Given the description of an element on the screen output the (x, y) to click on. 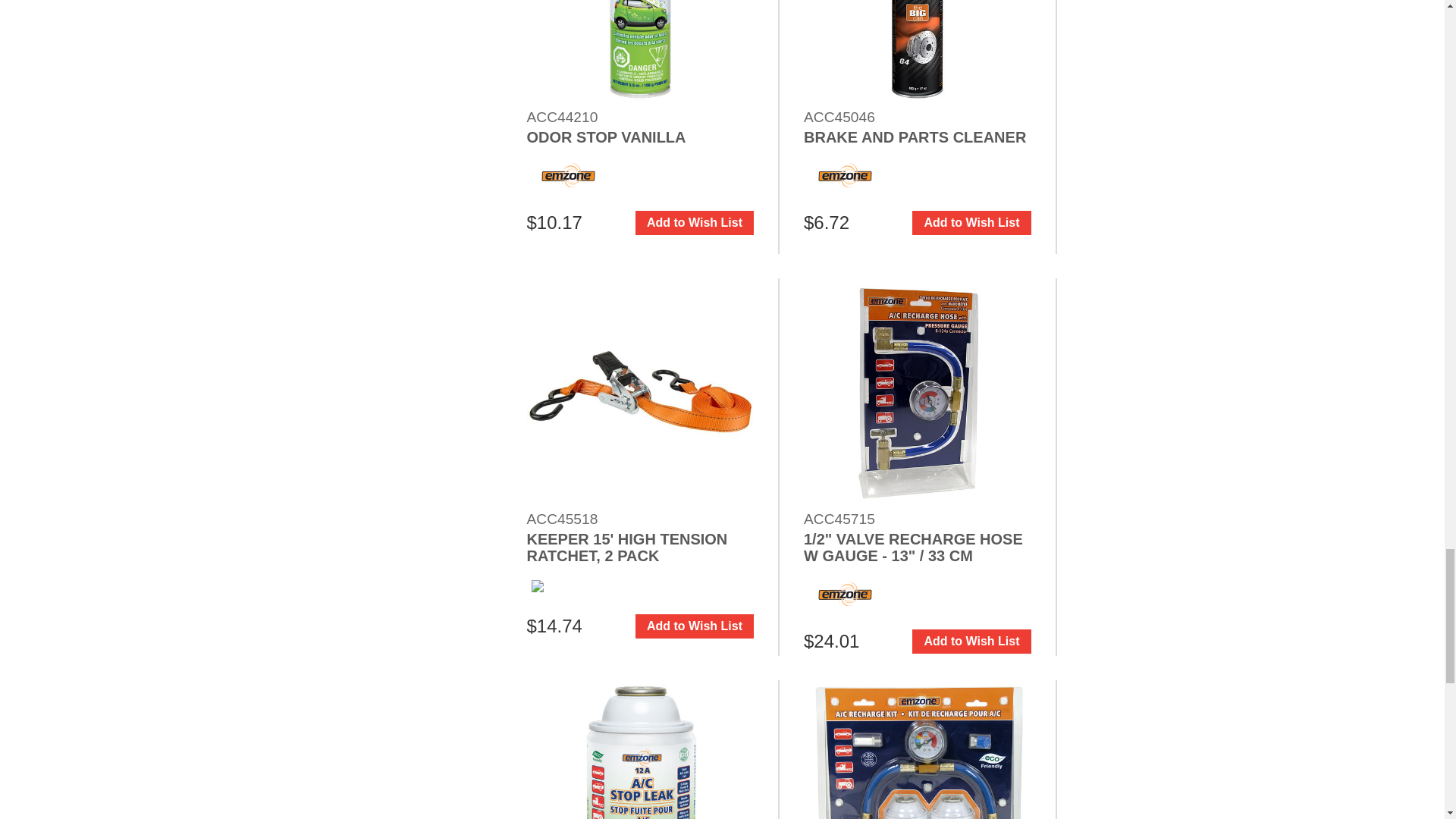
Keeper 15' High Tension Ratchet, 2 Pack (639, 392)
ODOR STOP VANILLA (639, 52)
BRAKE AND PARTS CLEANER (916, 52)
